Given the description of an element on the screen output the (x, y) to click on. 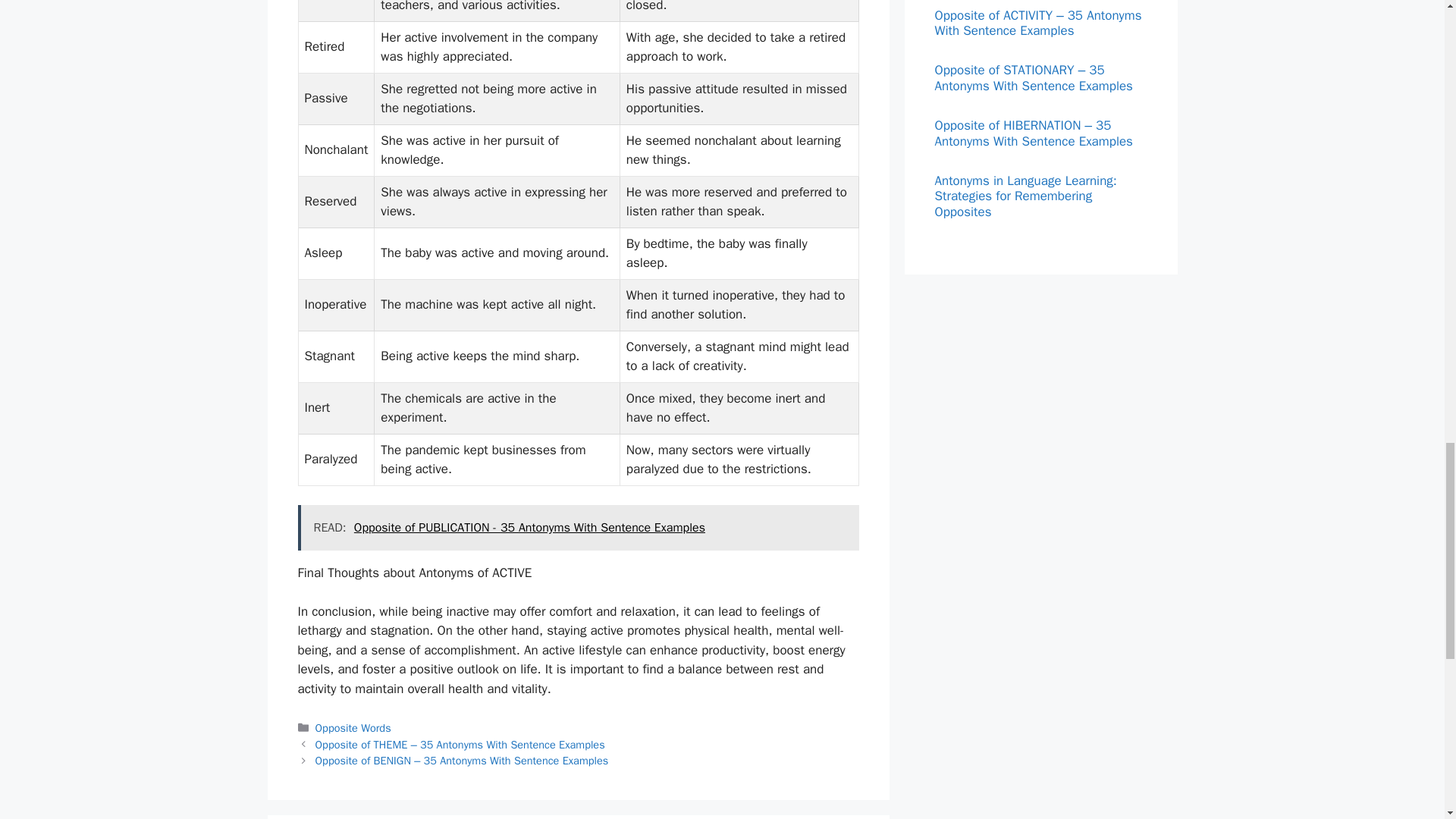
Opposite Words (353, 727)
